Given the description of an element on the screen output the (x, y) to click on. 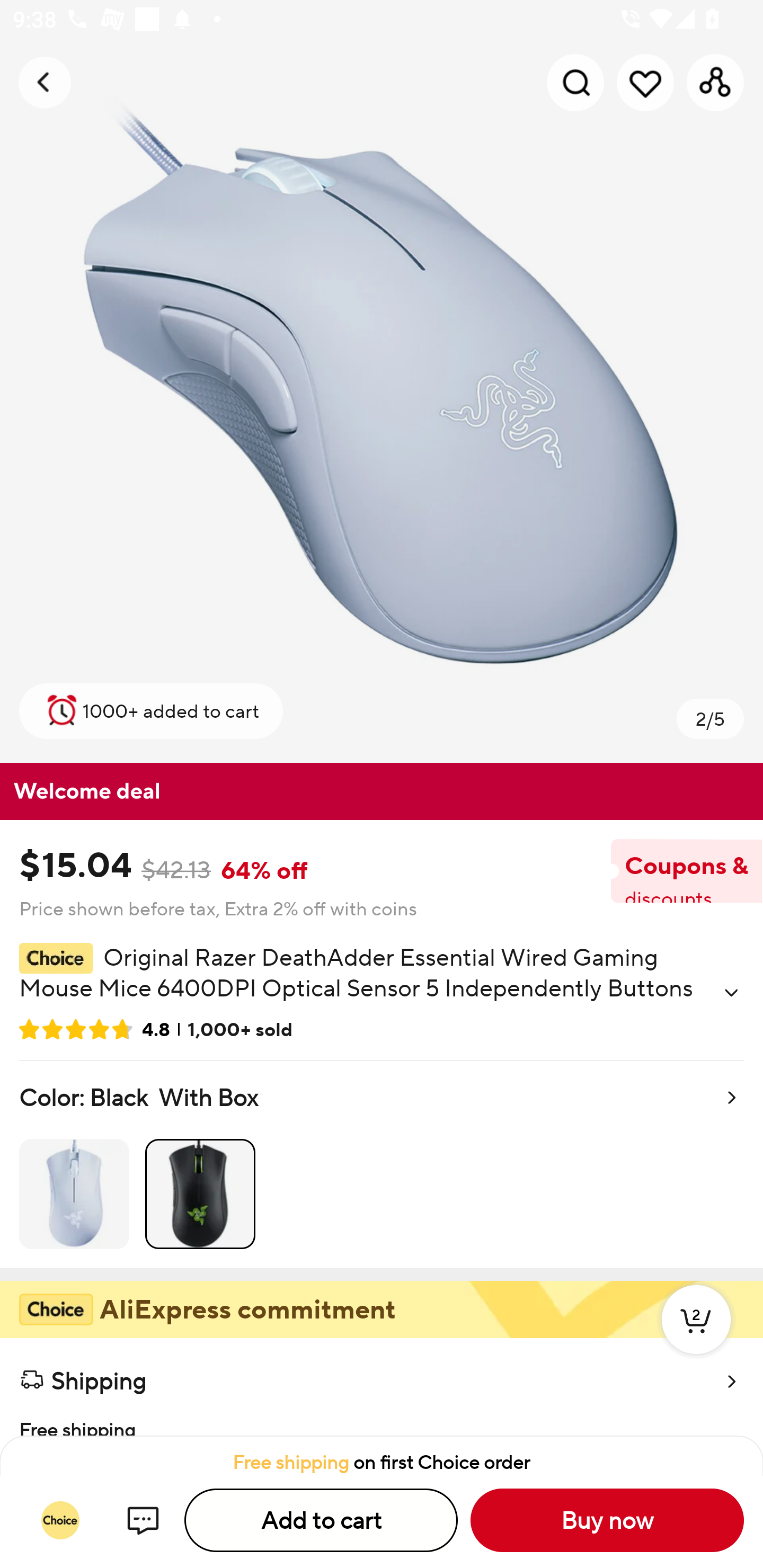
Navigate up (44, 82)
 (730, 992)
Color: Black  With Box  (381, 1164)
2 (695, 1338)
Shipping  Free shipping  (381, 1386)
Free shipping  (381, 1418)
Add to cart (320, 1520)
Buy now (606, 1520)
